Given the description of an element on the screen output the (x, y) to click on. 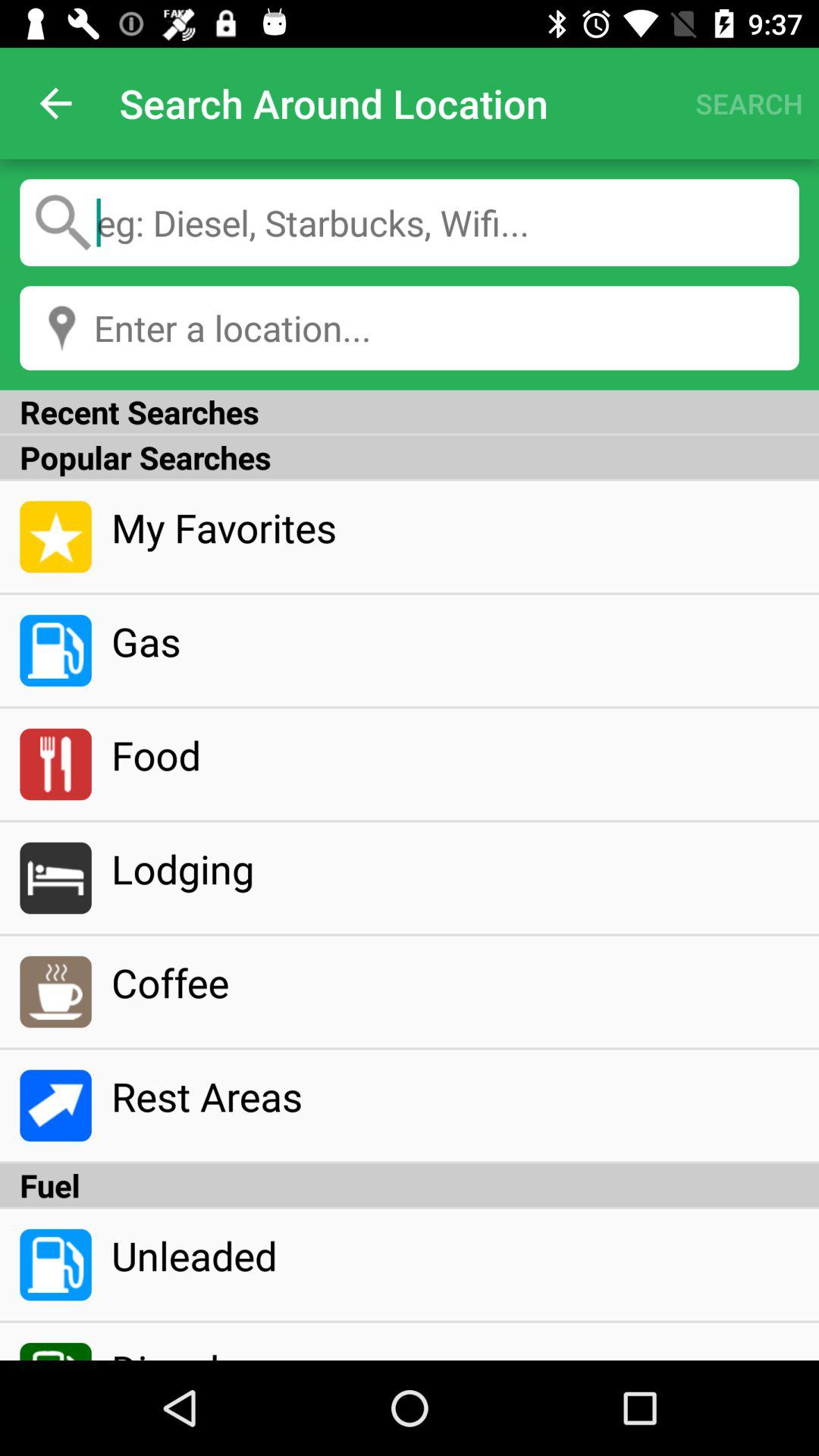
turn off icon below fuel (455, 1255)
